Given the description of an element on the screen output the (x, y) to click on. 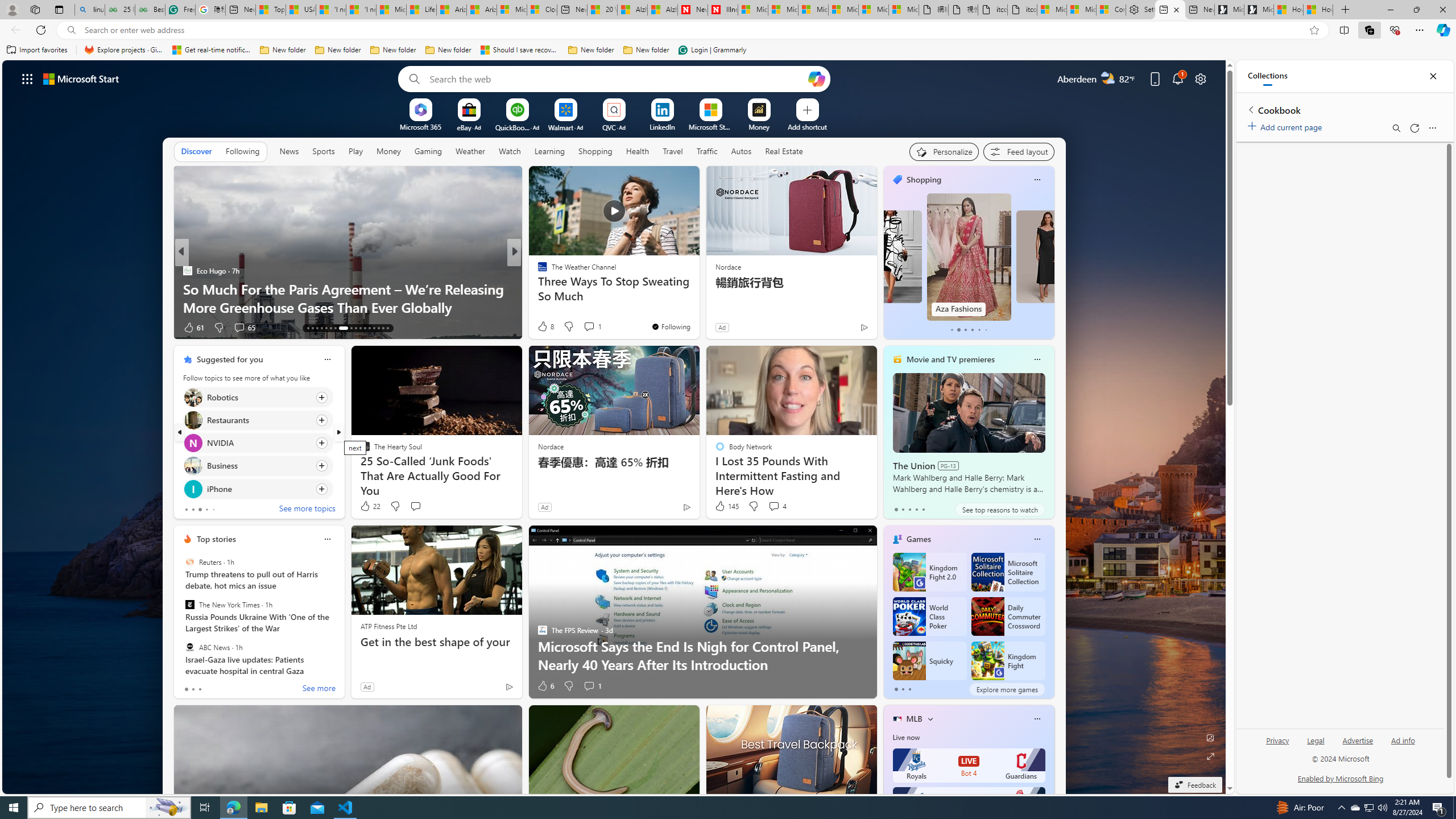
The New York Times (189, 604)
8 Like (545, 326)
Import favorites (36, 49)
Illness news & latest pictures from Newsweek.com (722, 9)
HuffPost (537, 270)
68 Like (543, 327)
86 Like (543, 327)
Lifestyle - MSN (421, 9)
See top reasons to watch (999, 509)
View comments 4 Comment (776, 505)
